Given the description of an element on the screen output the (x, y) to click on. 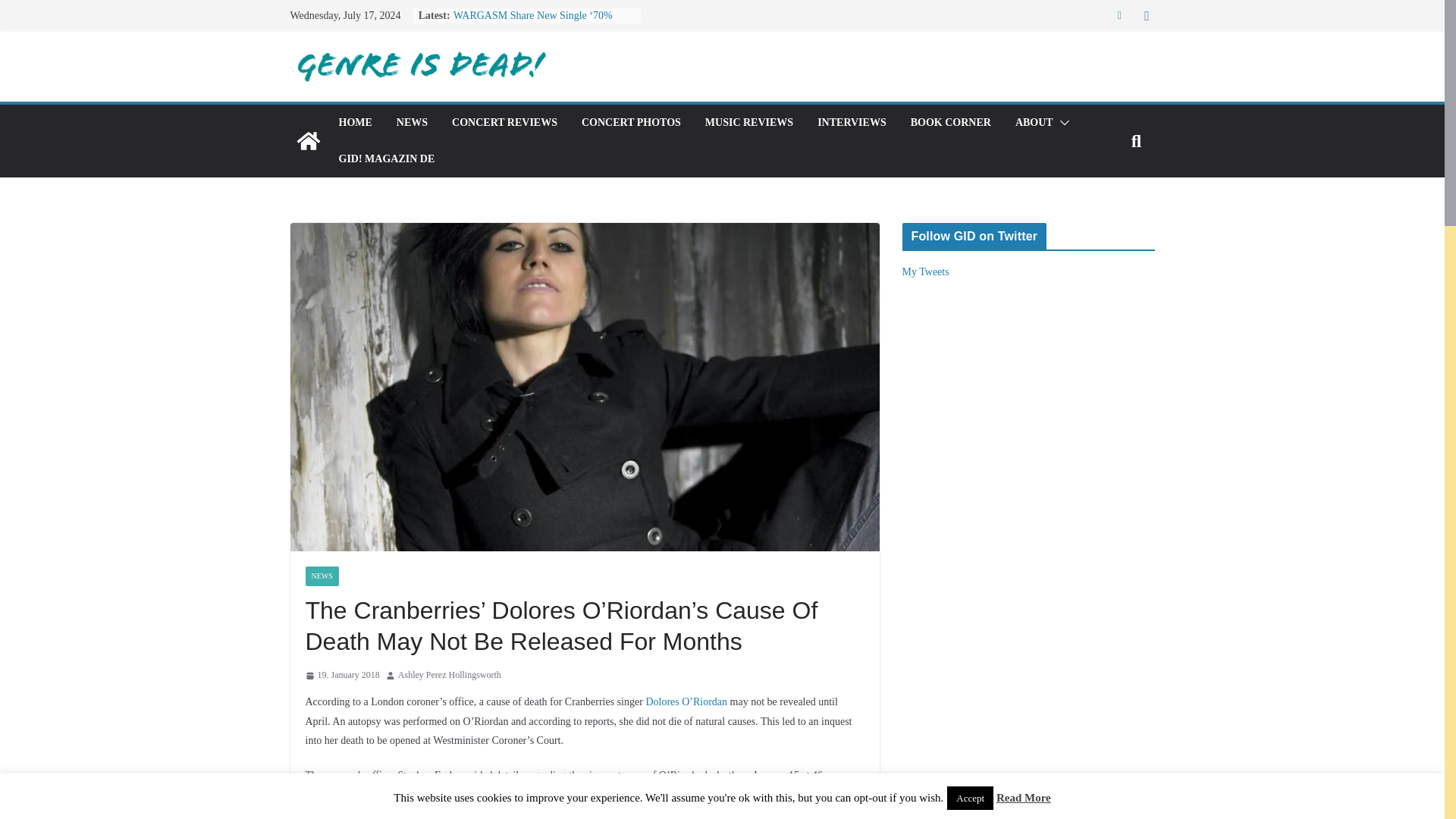
HOME (354, 122)
Ashley Perez Hollingsworth (448, 675)
ABOUT (1033, 122)
19. January 2018 (341, 675)
NEWS (320, 576)
NEWS (412, 122)
GENRE IS DEAD! (307, 140)
Ashley Perez Hollingsworth (448, 675)
GID! MAGAZIN DE (385, 158)
MUSIC REVIEWS (748, 122)
BOOK CORNER (951, 122)
INTERVIEWS (851, 122)
CONCERT PHOTOS (630, 122)
The Guardian (374, 809)
CONCERT REVIEWS (504, 122)
